Given the description of an element on the screen output the (x, y) to click on. 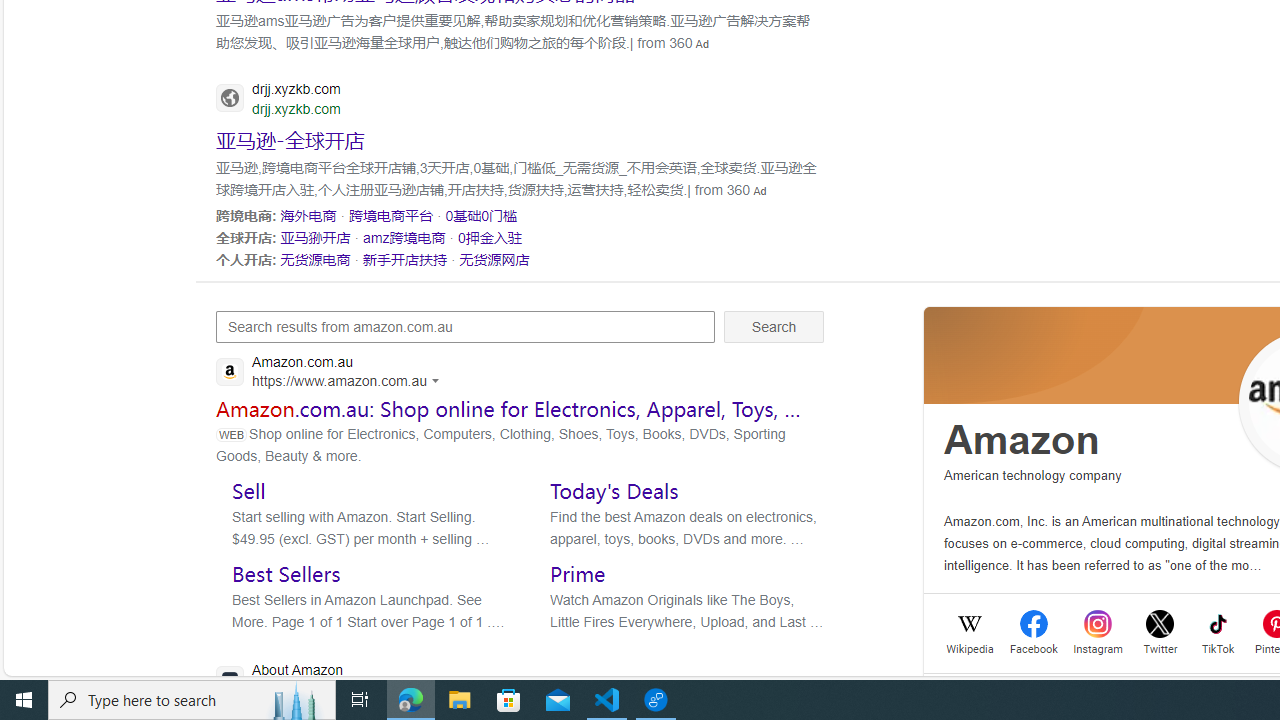
Amazon.com.au (333, 373)
Facebook (1033, 646)
Amazon (1021, 440)
SERP,5567 (391, 215)
